Given the description of an element on the screen output the (x, y) to click on. 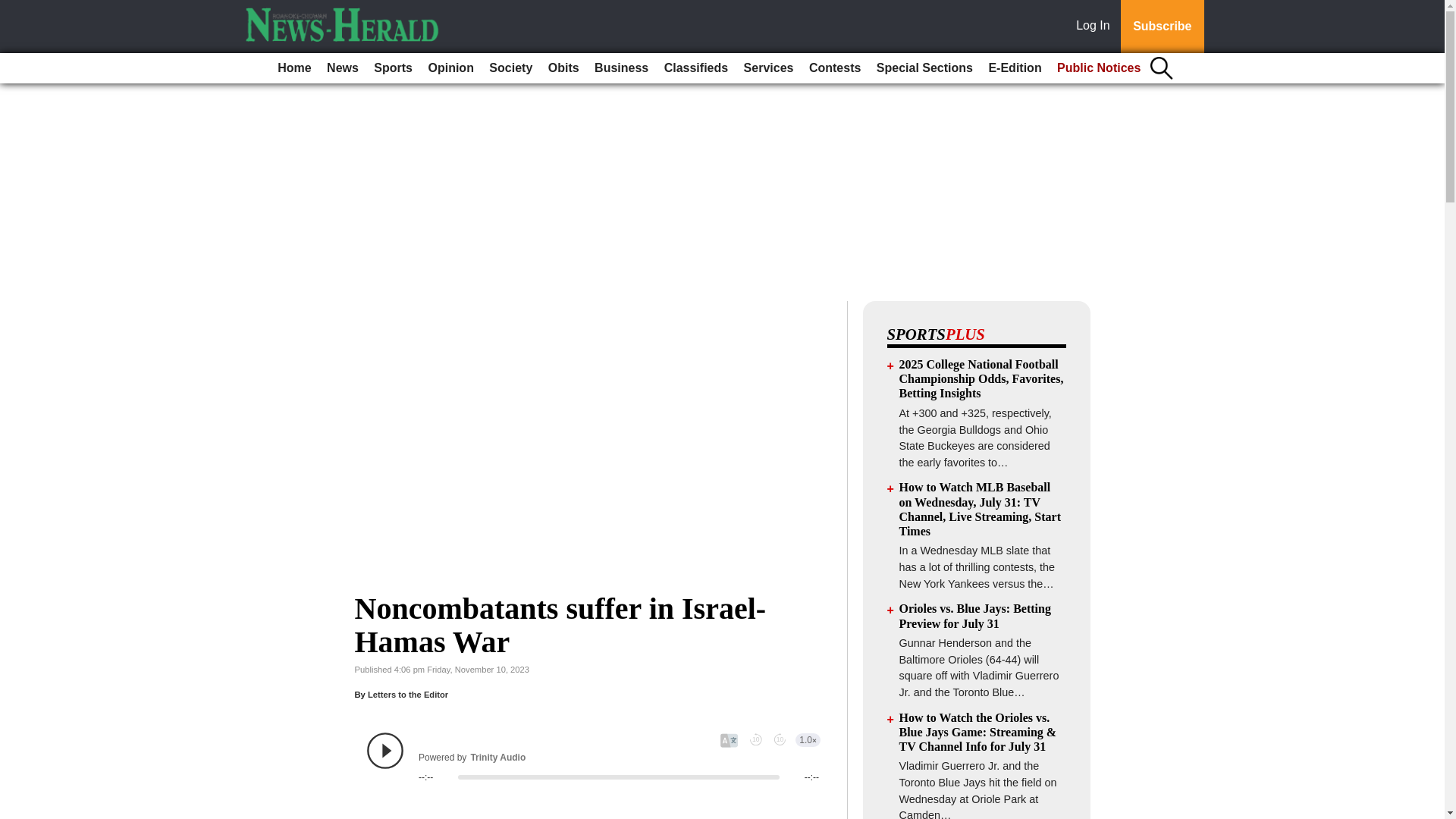
Sports (393, 68)
Society (510, 68)
Services (768, 68)
Public Notices (1099, 68)
Contests (834, 68)
Home (293, 68)
Business (620, 68)
News (342, 68)
Subscribe (1162, 26)
E-Edition (1013, 68)
Classifieds (695, 68)
Special Sections (924, 68)
Letters to the Editor (408, 694)
Trinity Audio Player (592, 757)
Log In (1095, 26)
